Given the description of an element on the screen output the (x, y) to click on. 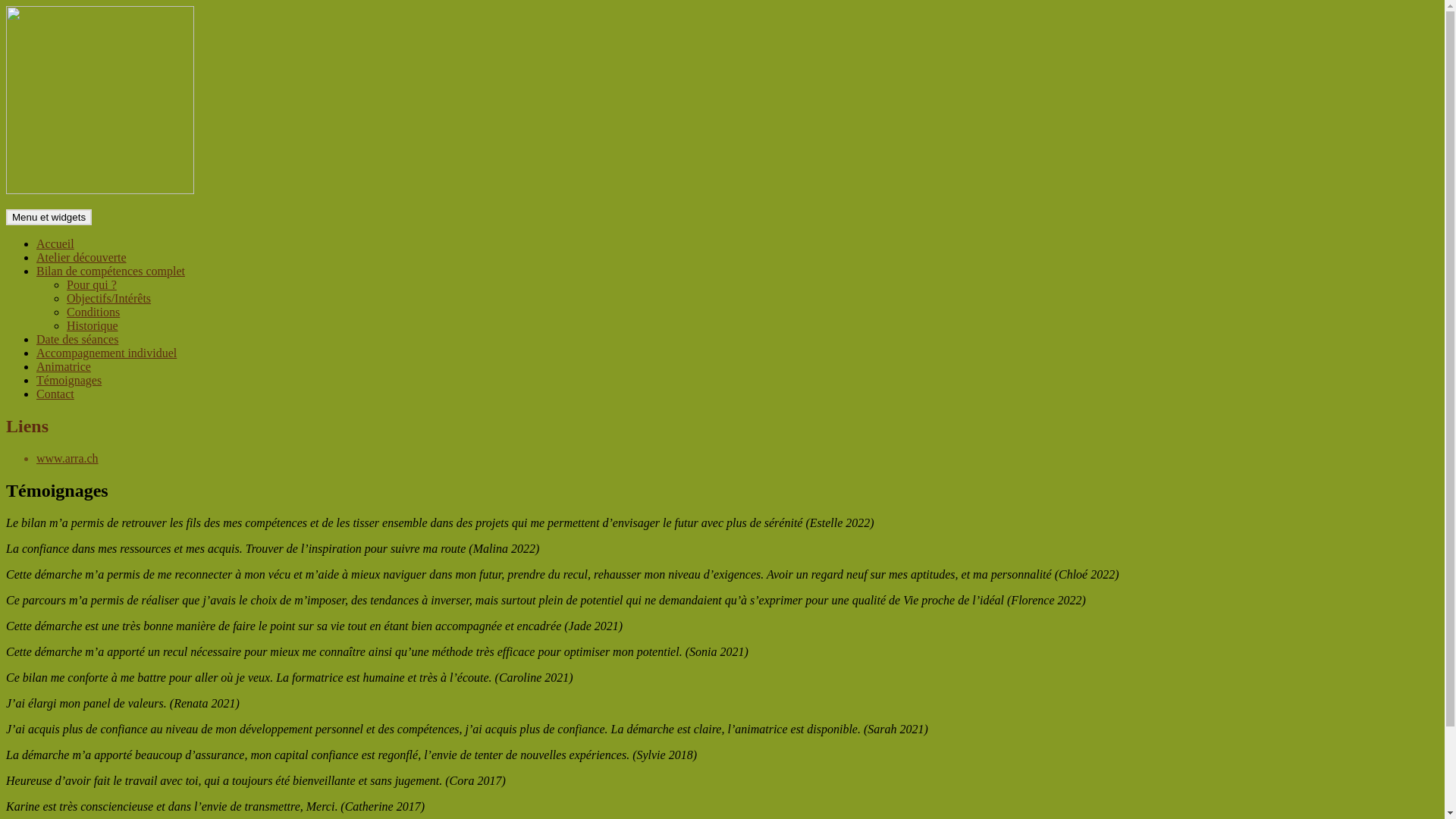
Aller au contenu Element type: text (5, 5)
Pour qui ? Element type: text (91, 284)
Accueil Element type: text (55, 243)
Contact Element type: text (55, 393)
Menu et widgets Element type: text (48, 217)
Conditions Element type: text (92, 311)
www.arra.ch Element type: text (67, 457)
Accompagnement individuel Element type: text (106, 352)
Animatrice Element type: text (63, 366)
Historique Element type: text (92, 325)
